Given the description of an element on the screen output the (x, y) to click on. 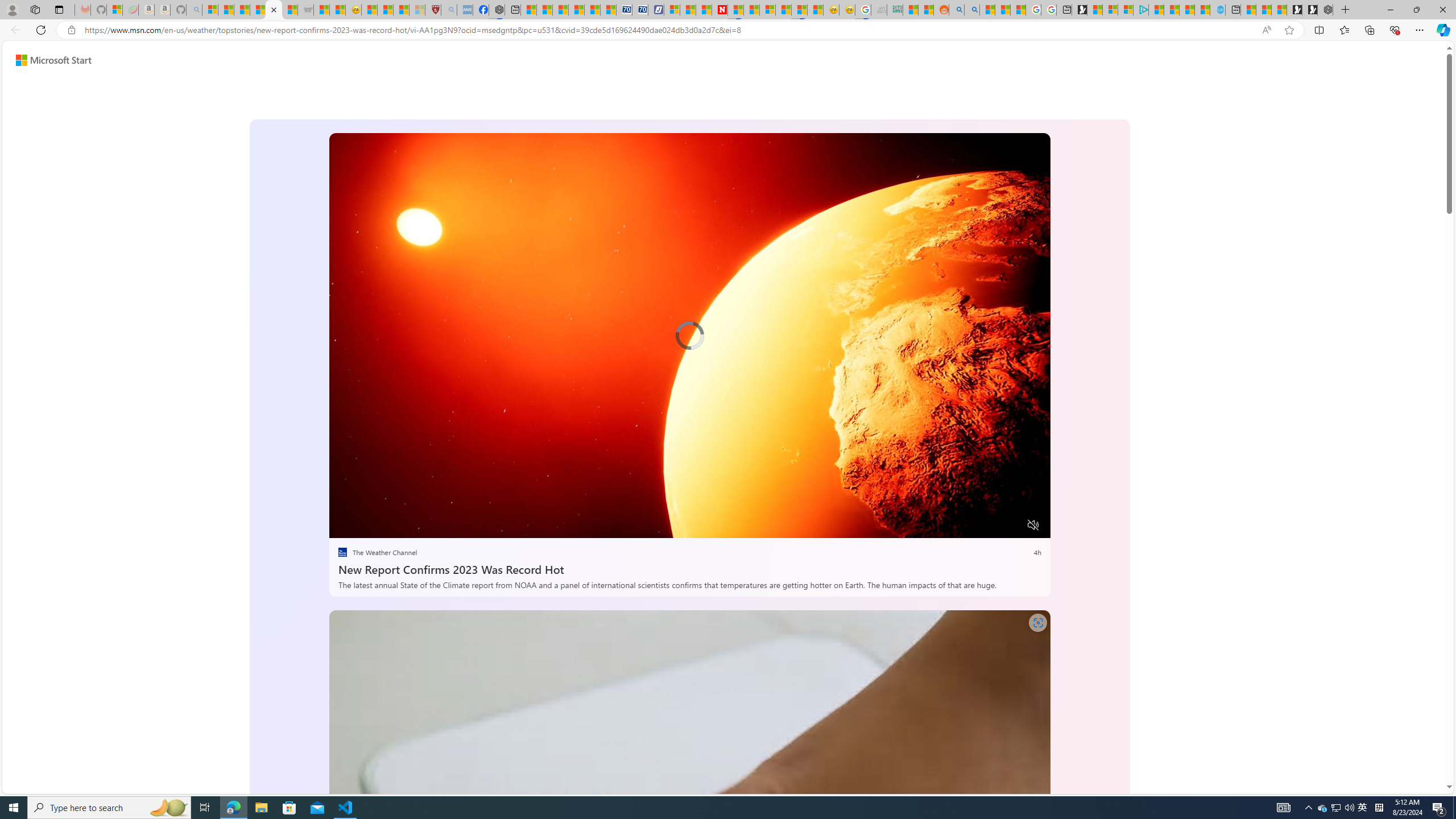
Progress Bar (689, 510)
12 Popular Science Lies that Must be Corrected - Sleeping (416, 9)
